Given the description of an element on the screen output the (x, y) to click on. 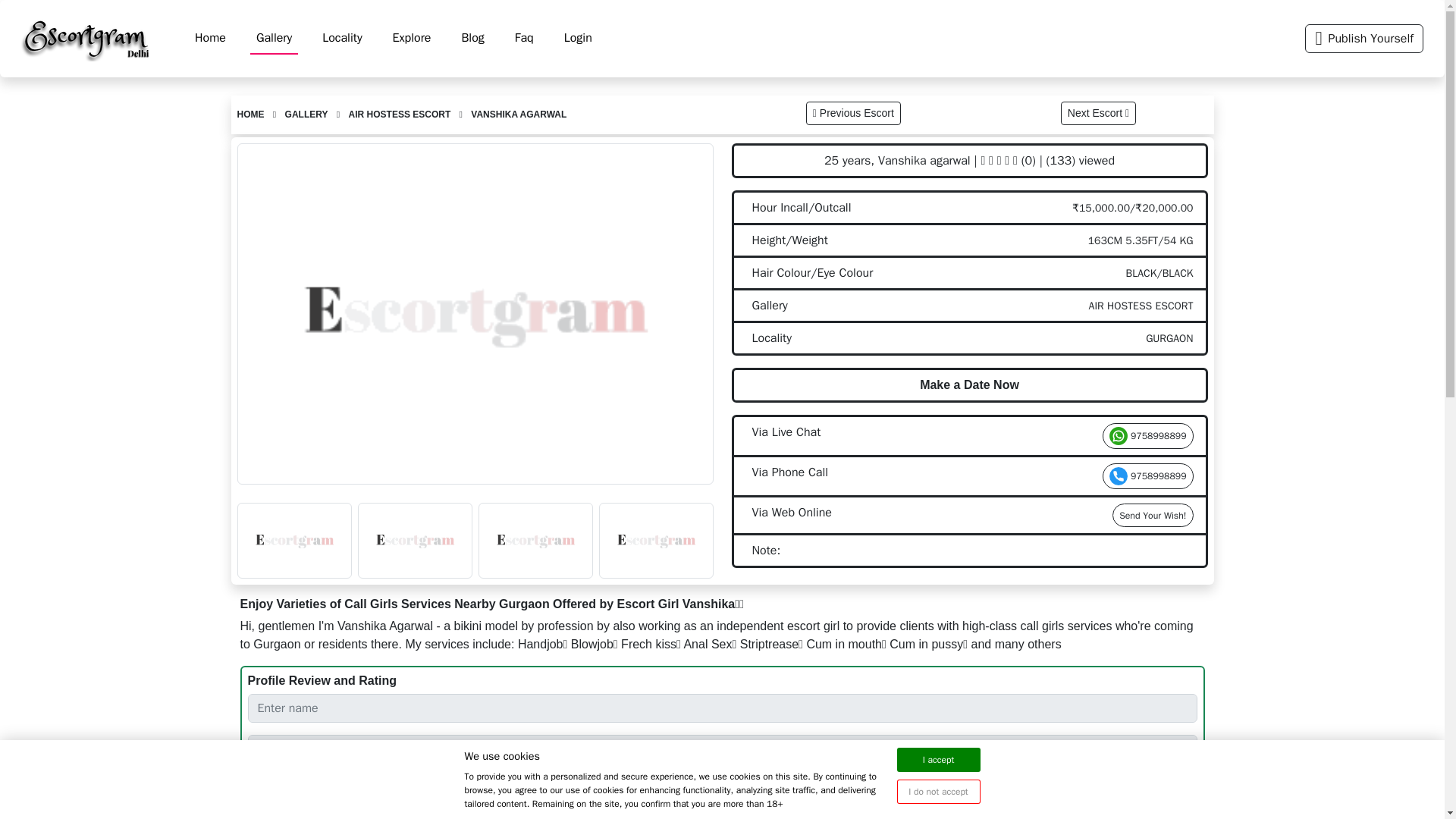
Publish Yourself (1363, 39)
Send Your Wish! (1152, 515)
HOME (249, 113)
Locality (341, 37)
AIR HOSTESS ESCORT (400, 113)
Blog (471, 37)
Back To Home (249, 113)
9758998899 (1147, 475)
Return To Gallery (307, 113)
Previous Escort (853, 113)
